Given the description of an element on the screen output the (x, y) to click on. 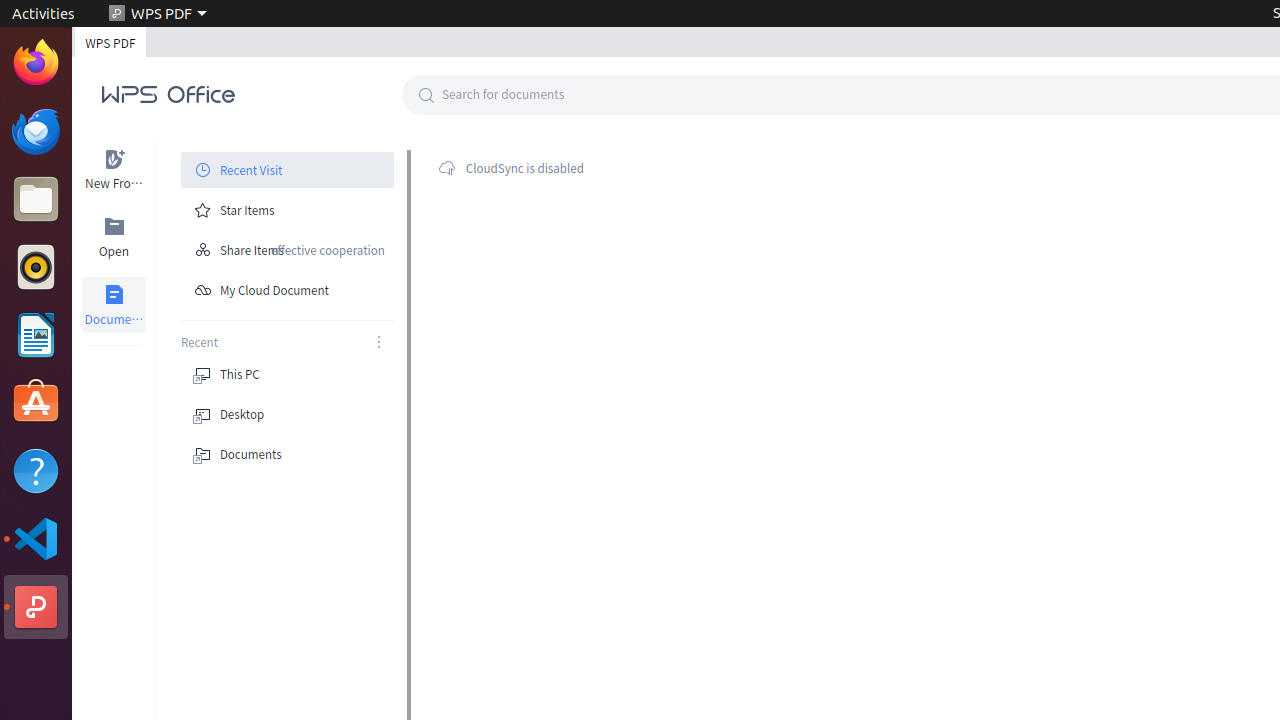
WPS PDF Element type: menu (157, 13)
